Given the description of an element on the screen output the (x, y) to click on. 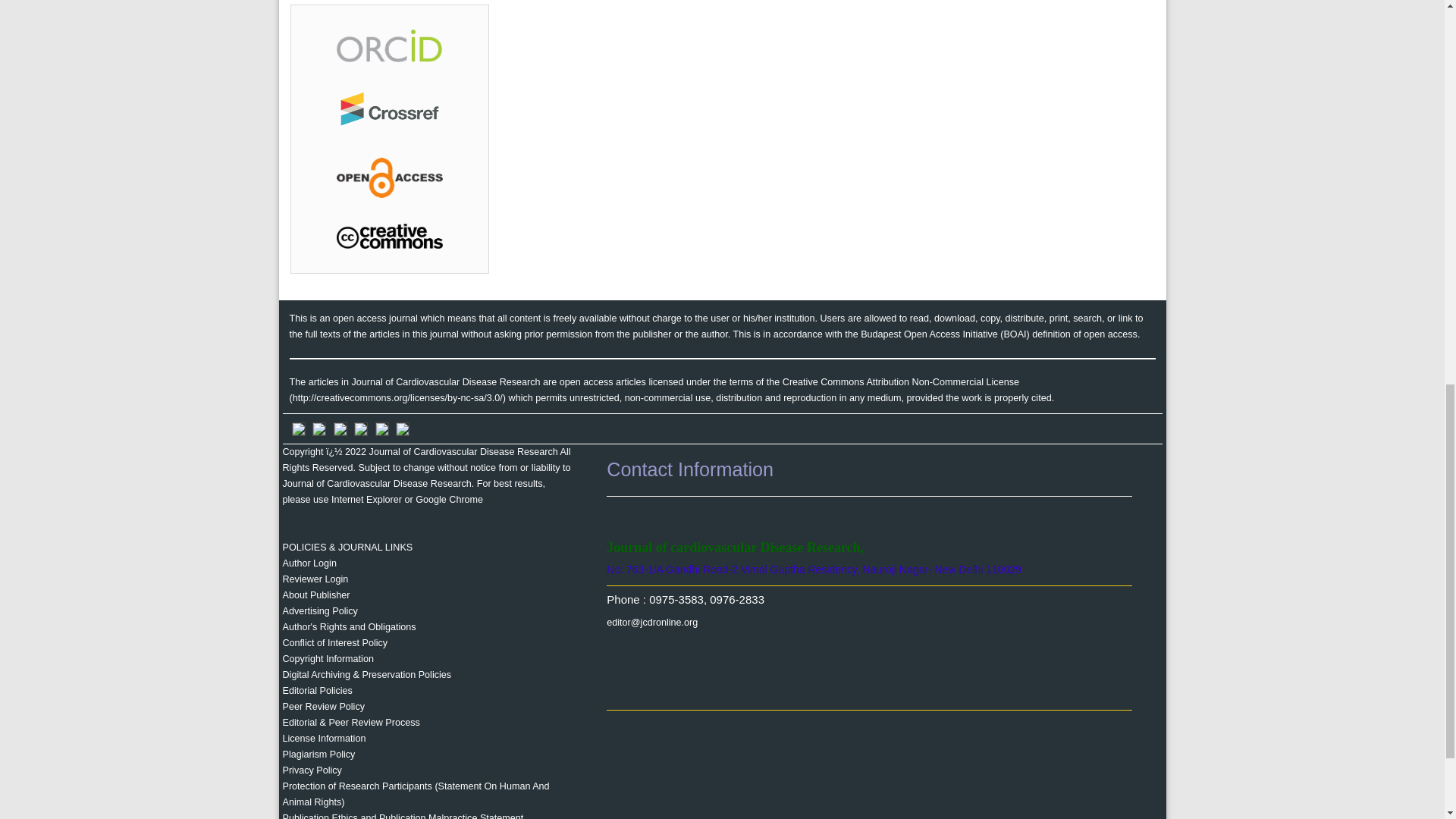
Author's Rights and Obligations (348, 626)
Advertising Policy (319, 611)
Peer Review Policy (323, 706)
Plagiarism Policy (318, 754)
Author Login (309, 562)
Conflict of Interest Policy (334, 643)
About Publisher (315, 594)
Reviewer Login (314, 579)
Editorial Policies (317, 690)
Copyright Information (327, 658)
License Information (323, 738)
